Given the description of an element on the screen output the (x, y) to click on. 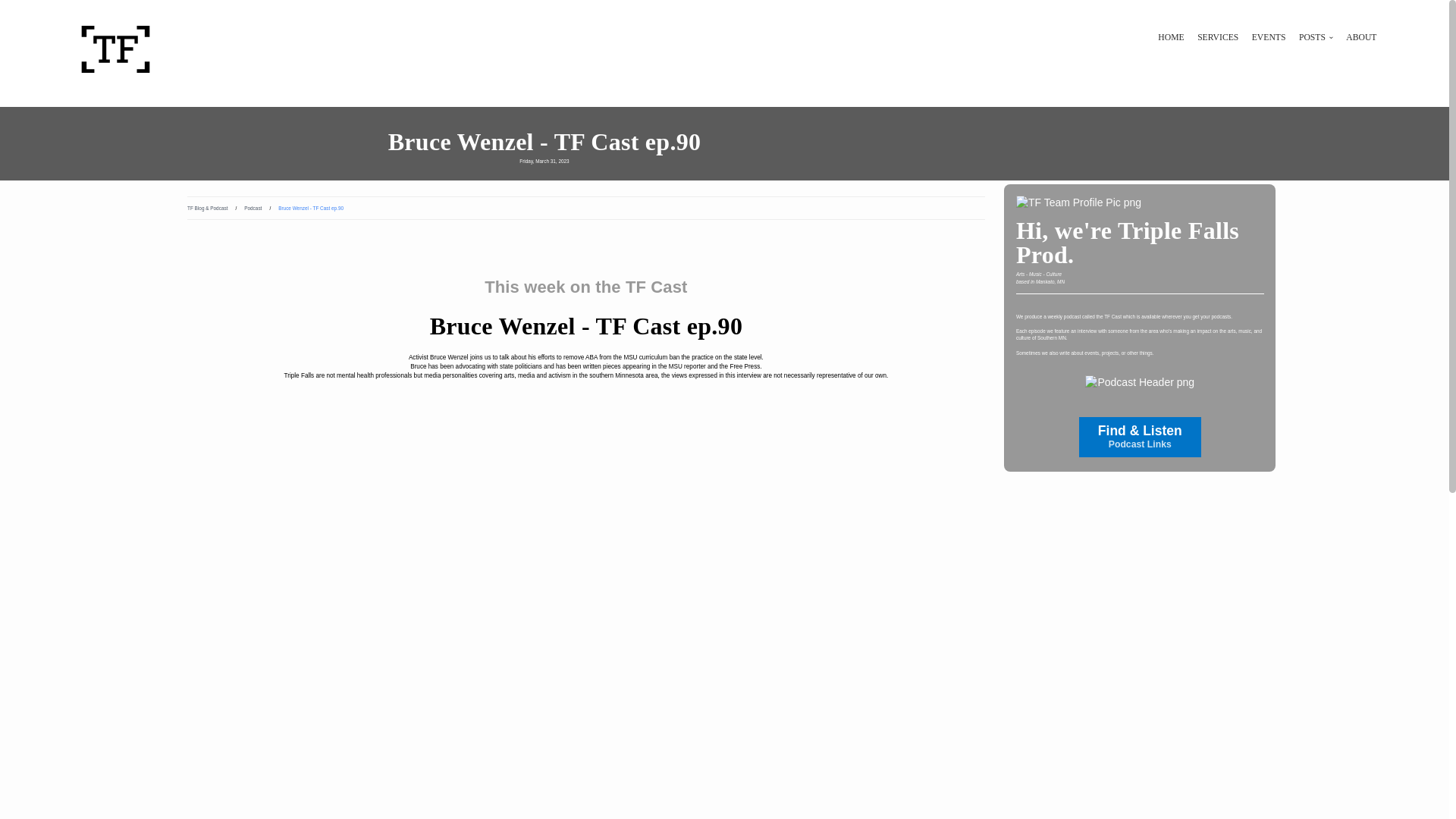
Podcast (253, 208)
Bruce Wenzel - TF Cast ep.90 (544, 141)
Friday, March 31, 2023 (544, 161)
